Given the description of an element on the screen output the (x, y) to click on. 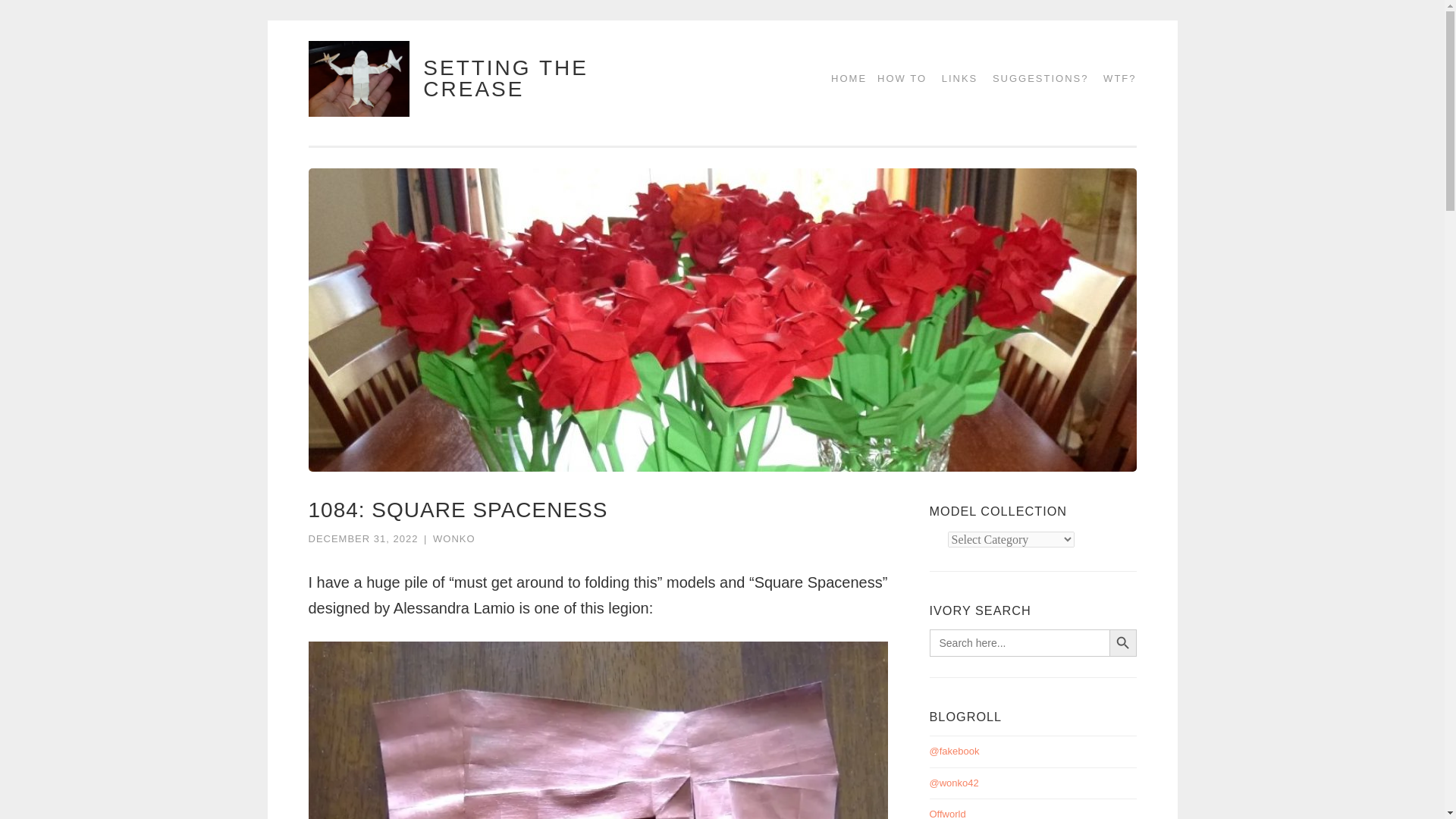
SEARCH BUTTON (1121, 642)
SUGGESTIONS? (1035, 78)
WTF? (1114, 78)
DECEMBER 31, 2022 (362, 538)
WONKO (454, 538)
Offworld (948, 813)
my fakebook account (954, 750)
HOME (843, 78)
HOW TO (896, 78)
my twitter feed (954, 782)
SETTING THE CREASE (505, 78)
LINKS (954, 78)
